Given the description of an element on the screen output the (x, y) to click on. 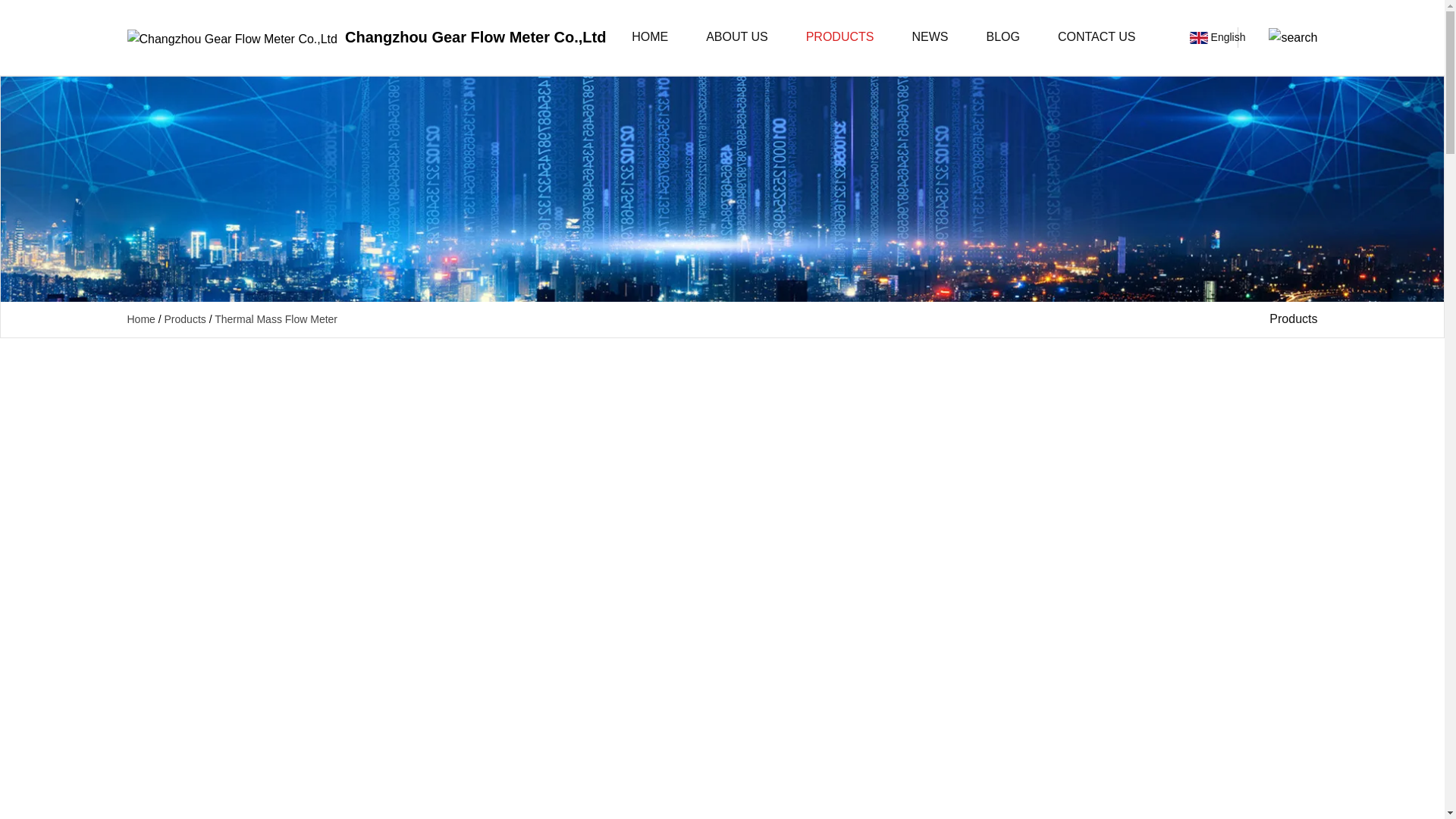
ABOUT US (736, 37)
Changzhou Gear Flow Meter Co.,Ltd (367, 37)
CONTACT US (1096, 37)
Home (141, 318)
PRODUCTS (839, 37)
BLOG (1002, 37)
Thermal Mass Flow Meter (275, 318)
Products (185, 318)
Changzhou Gear Flow Meter Co.,Ltd (367, 37)
NEWS (929, 37)
HOME (649, 37)
